Given the description of an element on the screen output the (x, y) to click on. 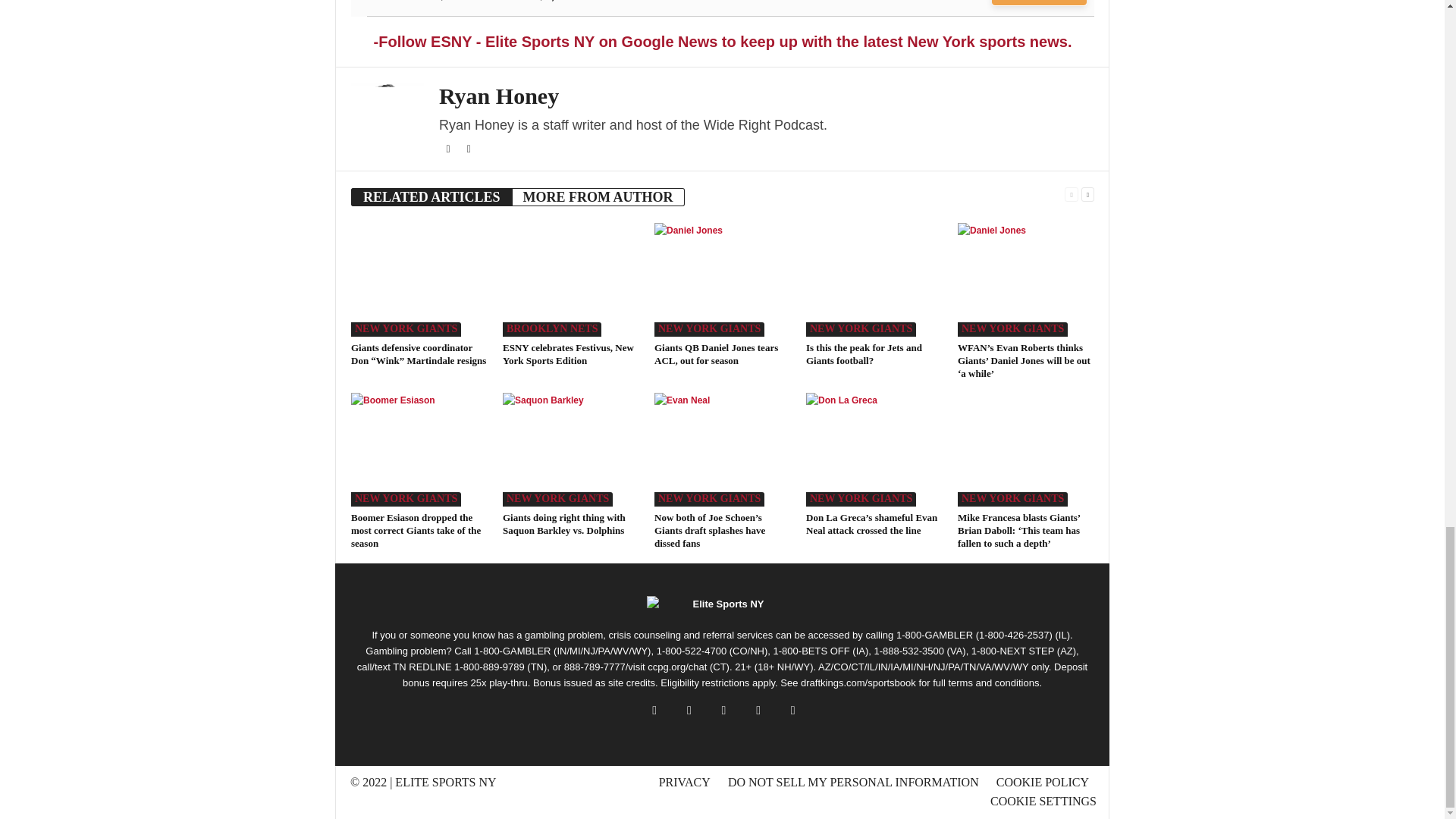
Twitter (449, 149)
ESNY celebrates Festivus, New York Sports Edition (570, 279)
Linkedin (468, 149)
